Given the description of an element on the screen output the (x, y) to click on. 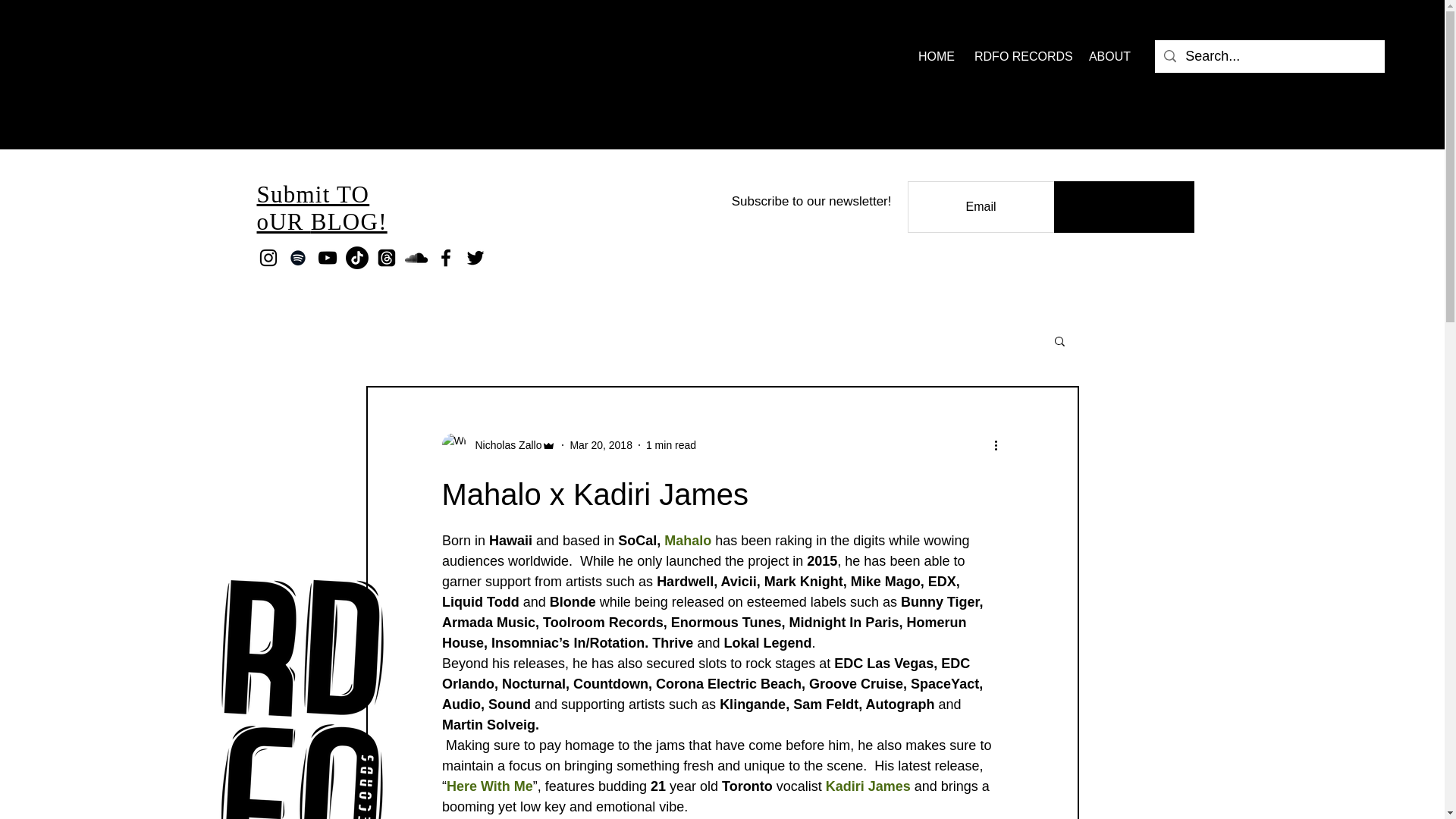
Nicholas  Zallo (503, 444)
Mar 20, 2018 (600, 444)
Here With Me (488, 785)
Mahalo (687, 540)
Subscribe (1123, 206)
Kadiri James (867, 785)
HOME (934, 56)
RDFO RECORDS (1019, 56)
Submit TO oUR BLOG! (321, 207)
ABOUT (1109, 56)
1 min read (670, 444)
